Given the description of an element on the screen output the (x, y) to click on. 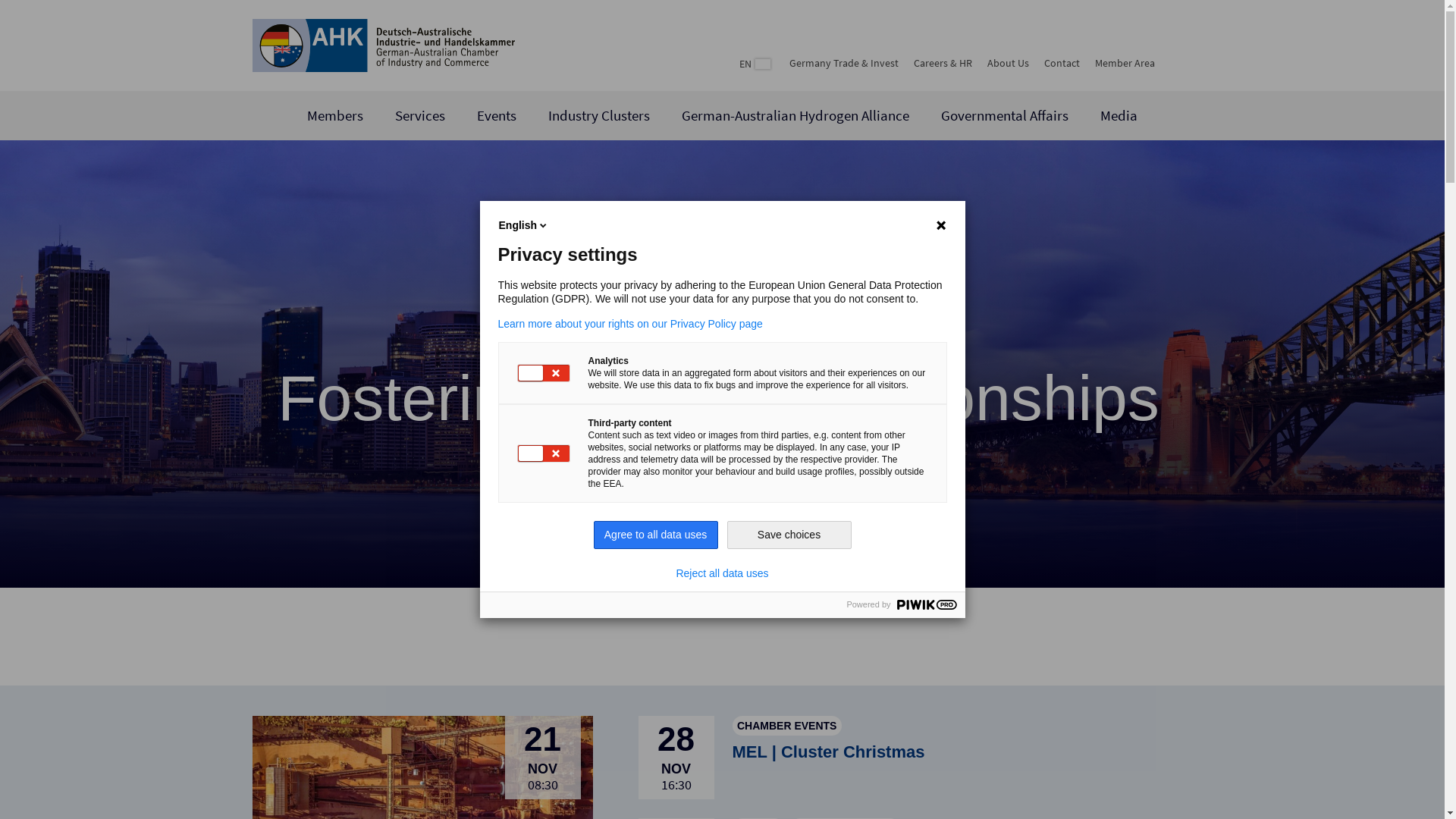
Member Area Element type: text (1124, 62)
Members Element type: text (335, 115)
Careers & HR Element type: text (942, 62)
Media Element type: text (1118, 115)
Agree to all data uses Element type: text (655, 534)
Services Element type: text (420, 115)
Save choices Element type: text (788, 534)
About Us Element type: text (1008, 62)
German-Australian Hydrogen Alliance Element type: text (795, 115)
Governmental Affairs Element type: text (1004, 115)
Contact Element type: text (1061, 62)
Germany Trade & Invest Element type: text (842, 62)
MEL | Cluster Christmas Element type: text (828, 751)
Learn more about your rights on our Privacy Policy page Element type: text (721, 323)
Events Element type: text (496, 115)
Industry Clusters Element type: text (598, 115)
Reject all data uses Element type: text (721, 573)
suchen Element type: text (1176, 61)
